Given the description of an element on the screen output the (x, y) to click on. 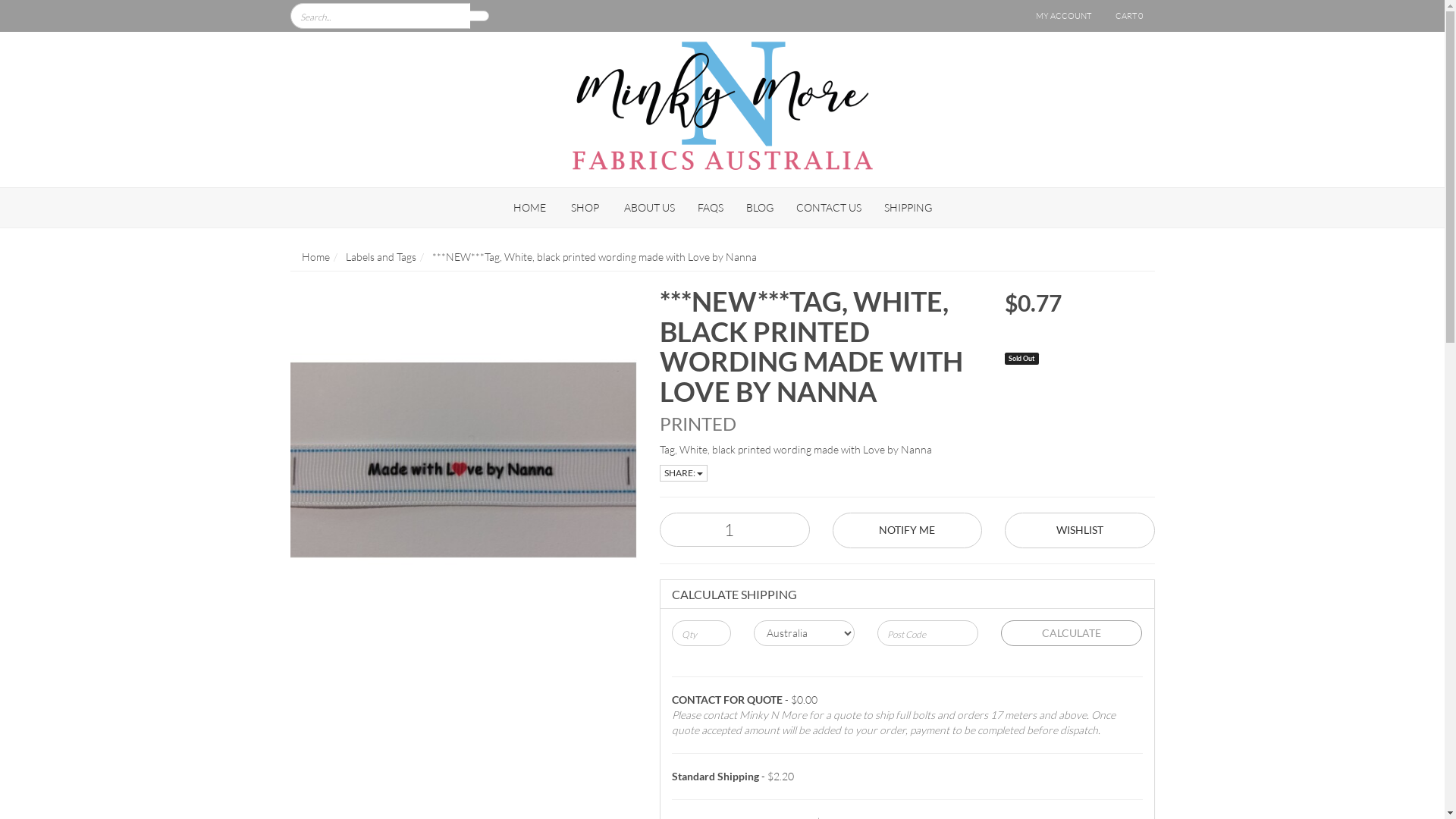
SHIPPING Element type: text (907, 207)
ABOUT US Element type: text (649, 207)
Home Element type: text (315, 256)
SHOP Element type: text (584, 207)
Search Element type: text (479, 15)
HOME Element type: text (529, 207)
BLOG Element type: text (759, 207)
FAQS Element type: text (709, 207)
NOTIFY ME Element type: text (907, 530)
Labels and Tags Element type: text (380, 256)
CONTACT US Element type: text (828, 207)
CALCULATE Element type: text (1071, 633)
CART 0 Element type: text (1129, 15)
Minky N More Element type: hover (722, 100)
SHARE: Element type: text (683, 472)
WISHLIST Element type: text (1079, 530)
MY ACCOUNT Element type: text (1062, 15)
